Given the description of an element on the screen output the (x, y) to click on. 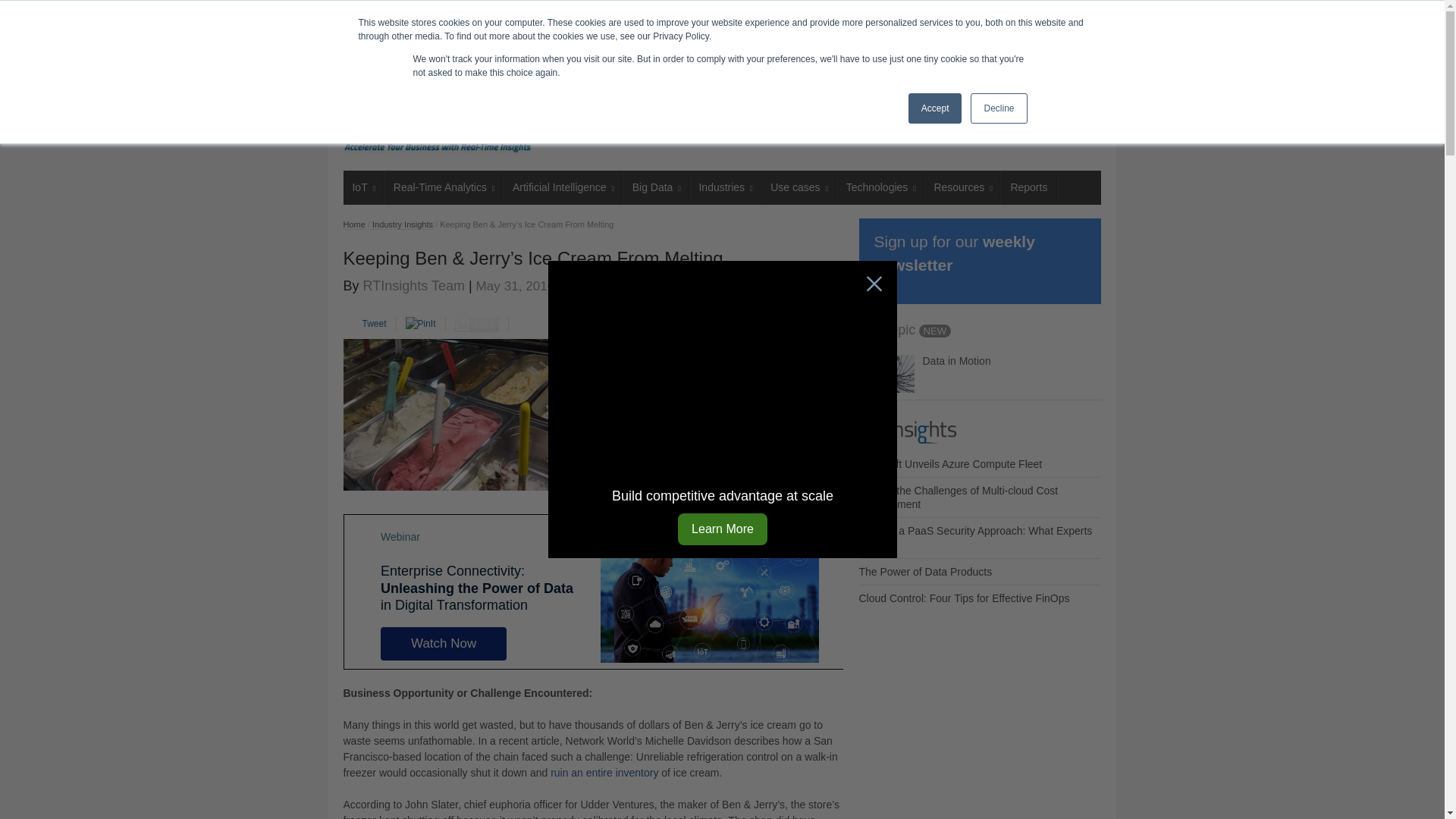
7:22 pm (515, 285)
Write for us (517, 59)
About Us (577, 59)
Embedded CTA (592, 591)
Our Team (371, 59)
RTInsights (437, 122)
Udder Ventures (737, 410)
Search (1079, 59)
View all posts by RTInsights Team (413, 285)
ice cream catastrophe (604, 772)
3rd party ad content (823, 122)
Accept (935, 108)
Brain Trust (638, 59)
Search this site (978, 59)
Engage with Us (442, 59)
